Given the description of an element on the screen output the (x, y) to click on. 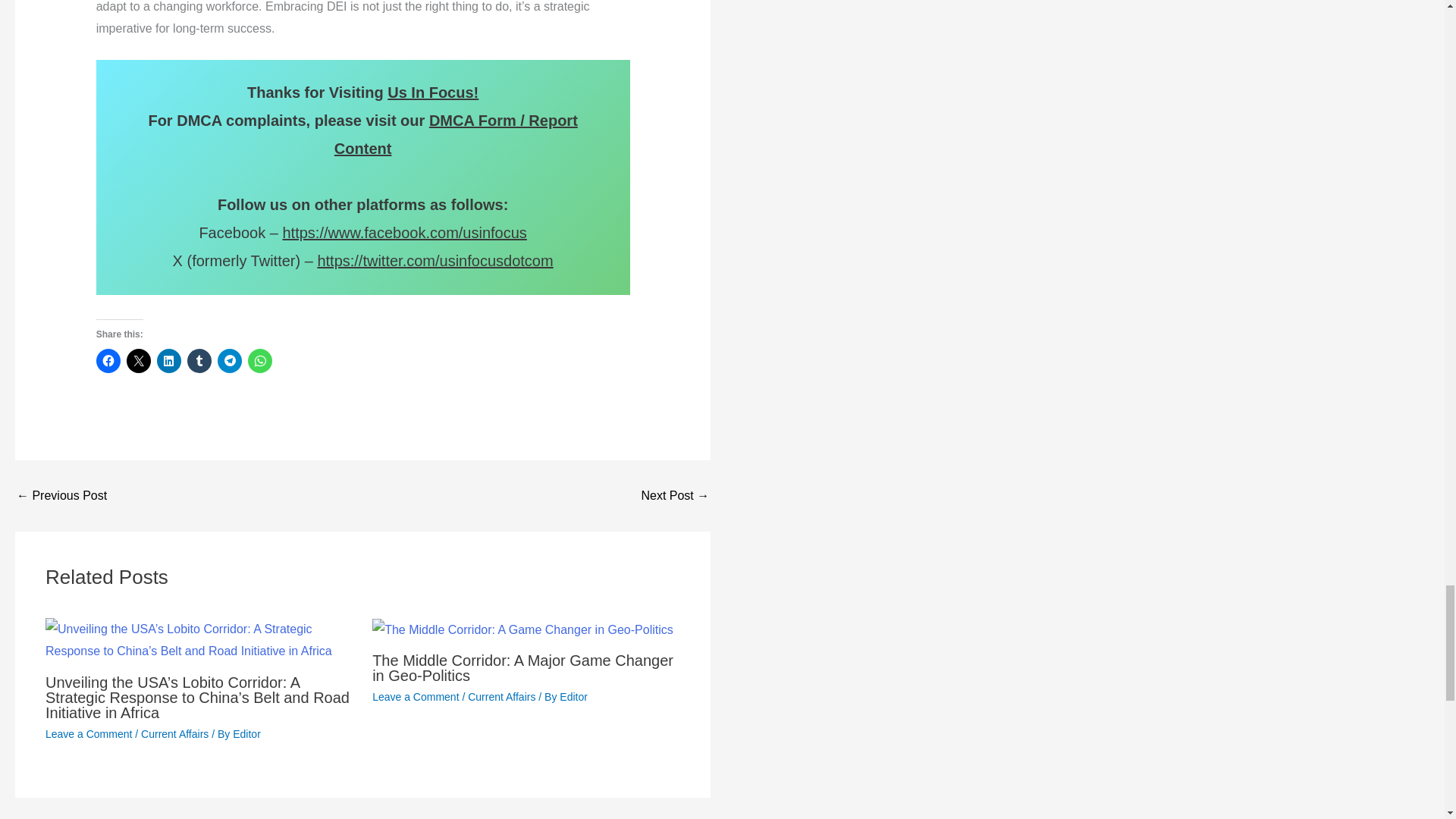
Click to share on X (138, 360)
Click to share on Tumblr (199, 360)
Click to share on WhatsApp (259, 360)
Click to share on LinkedIn (168, 360)
View all posts by Editor (573, 696)
Click to share on Facebook (108, 360)
Click to share on Telegram (228, 360)
Mastering ChatGPT in 2024: A Comprehensive Guide (674, 495)
View all posts by Editor (246, 734)
